Given the description of an element on the screen output the (x, y) to click on. 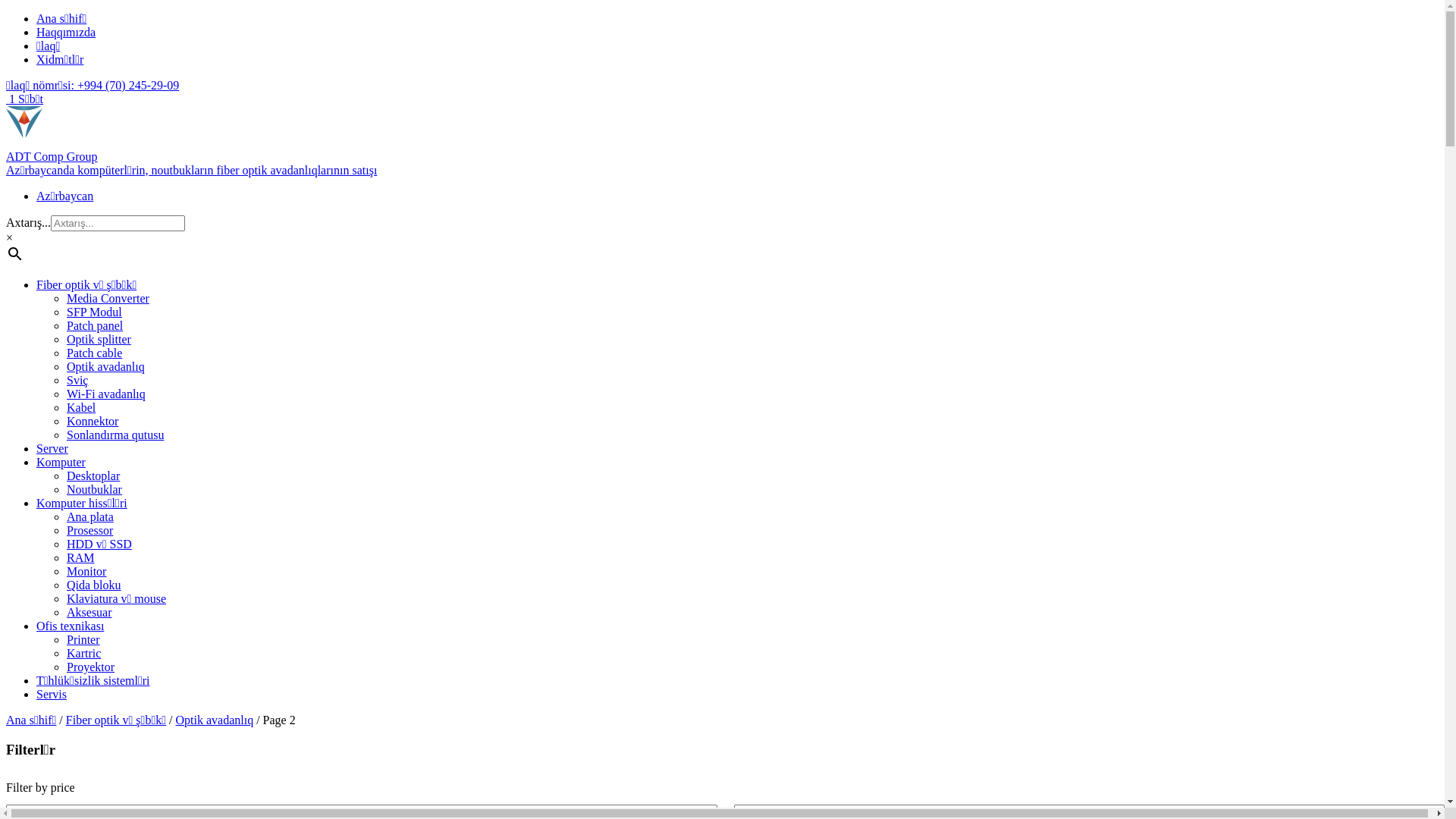
Optik splitter Element type: text (98, 338)
Patch cable Element type: text (94, 352)
Kartric Element type: text (83, 652)
Proyektor Element type: text (90, 666)
Konnektor Element type: text (92, 420)
RAM Element type: text (80, 557)
Printer Element type: text (83, 639)
SFP Modul Element type: text (94, 311)
Prosessor Element type: text (89, 530)
Qida bloku Element type: text (93, 584)
Noutbuklar Element type: text (94, 489)
Komputer Element type: text (60, 461)
Kabel Element type: text (80, 407)
Ana plata Element type: text (89, 516)
Servis Element type: text (51, 693)
Media Converter Element type: text (107, 297)
Monitor Element type: text (86, 570)
Aksesuar Element type: text (89, 611)
Patch panel Element type: text (94, 325)
Server Element type: text (52, 448)
Desktoplar Element type: text (92, 475)
